Given the description of an element on the screen output the (x, y) to click on. 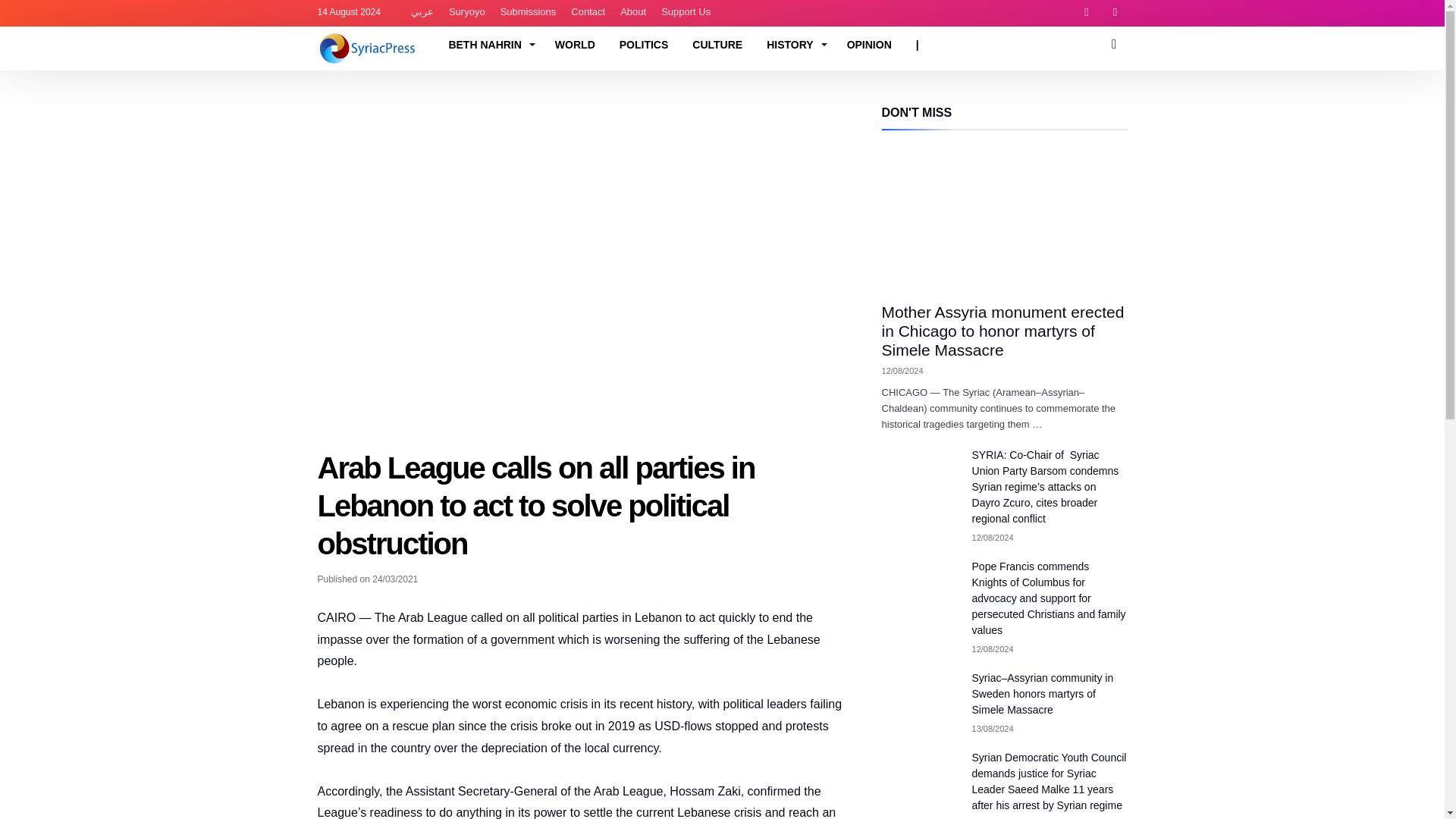
Facebook (1086, 13)
Support Us (685, 12)
POLITICS (644, 44)
CULTURE (716, 44)
OPINION (869, 44)
WORLD (575, 44)
BETH NAHRIN (488, 44)
HISTORY (794, 44)
Twitter (1114, 13)
About (632, 12)
